Given the description of an element on the screen output the (x, y) to click on. 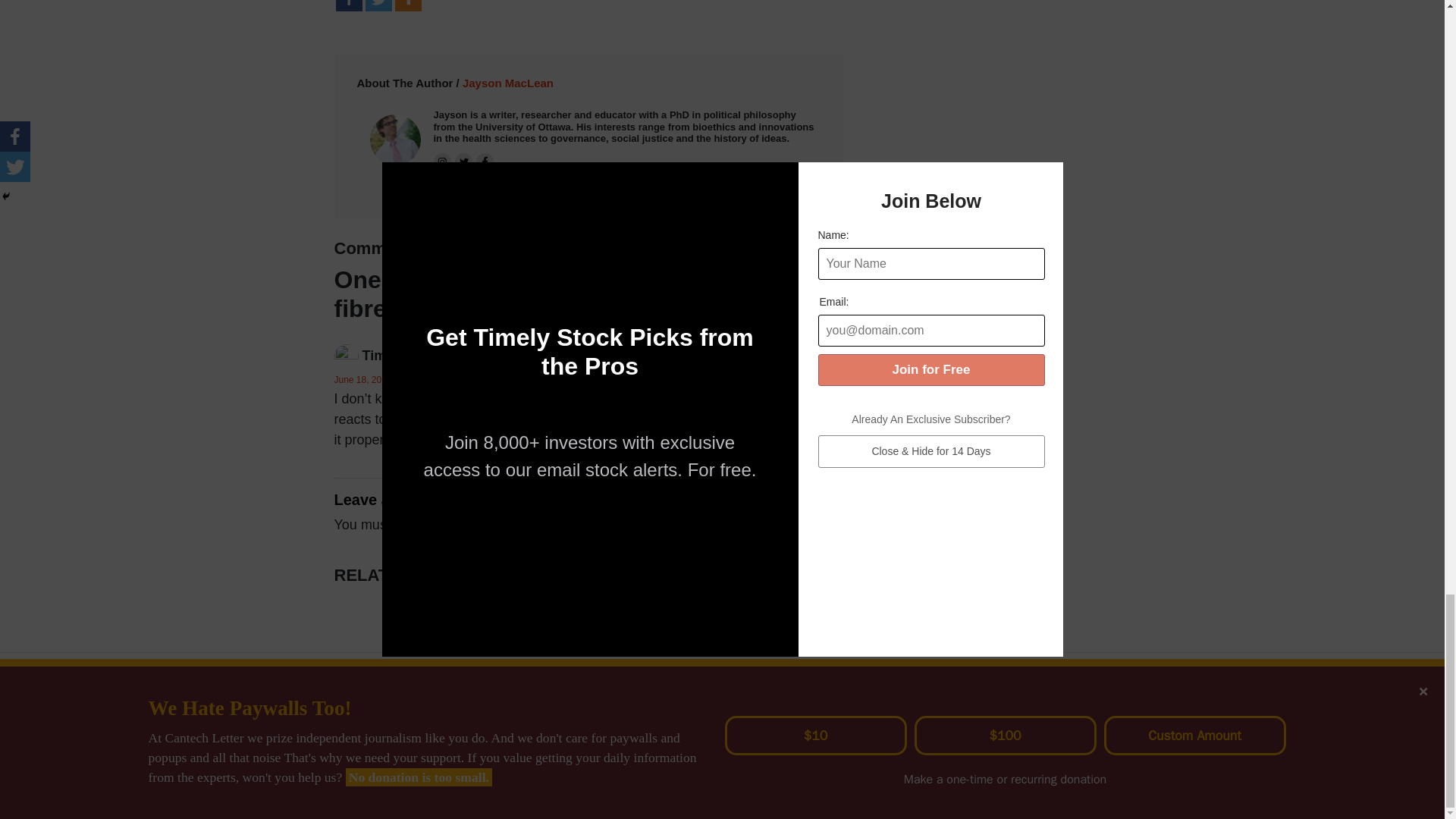
Facebook (347, 5)
More (407, 5)
Twitter (378, 5)
